Given the description of an element on the screen output the (x, y) to click on. 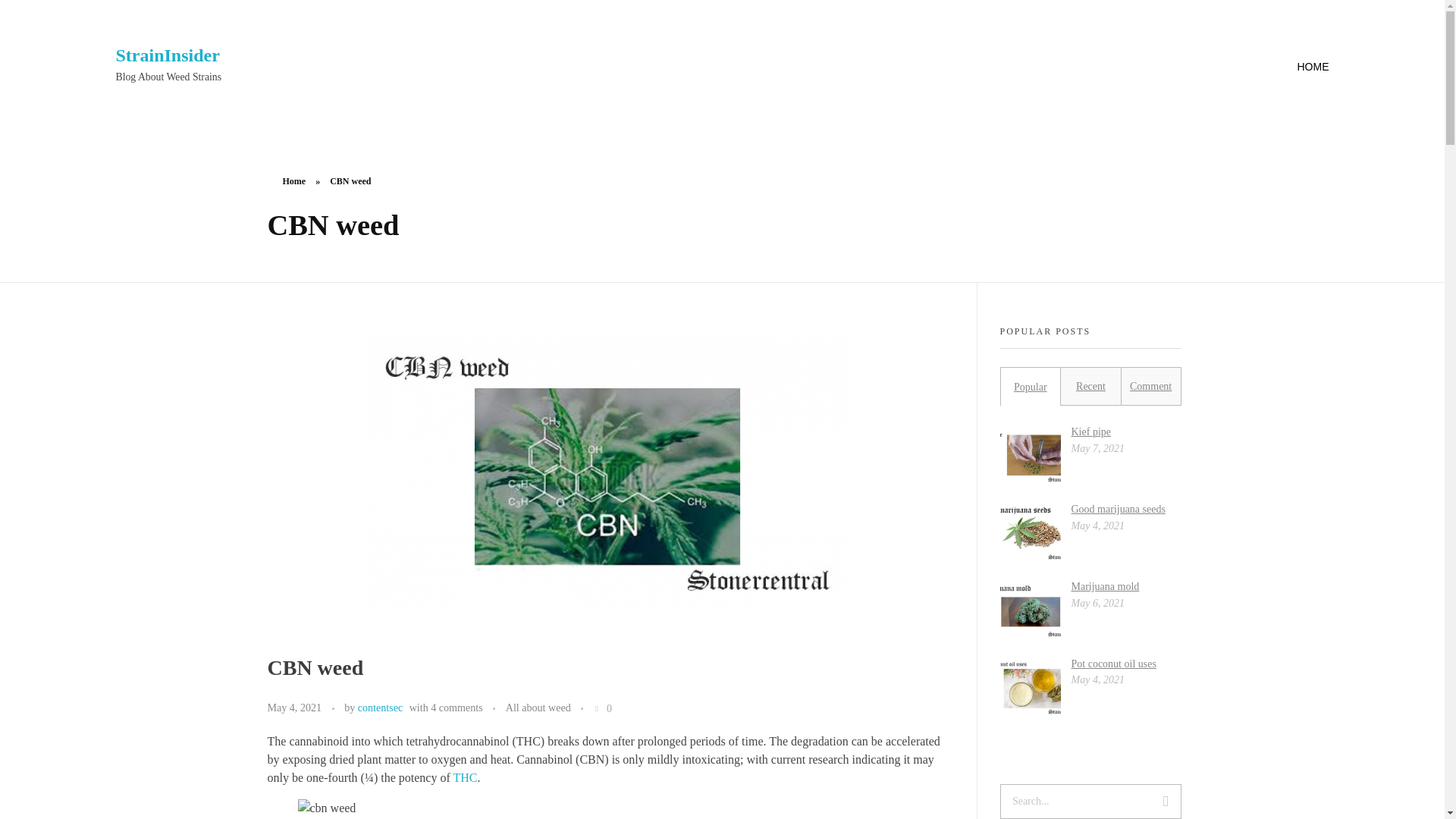
StrainInsider (167, 55)
Home (293, 181)
Comment (1150, 386)
Good marijuana seeds (1117, 509)
Kief pipe (1089, 431)
View all posts in All about weed (537, 707)
Marijuana mold (1104, 586)
Popular (1029, 387)
All about weed (537, 707)
Recent (1090, 386)
THC (464, 777)
HOME (1296, 66)
View all posts by contentsec (380, 707)
contentsec (380, 707)
Pot coconut oil uses (1113, 663)
